Given the description of an element on the screen output the (x, y) to click on. 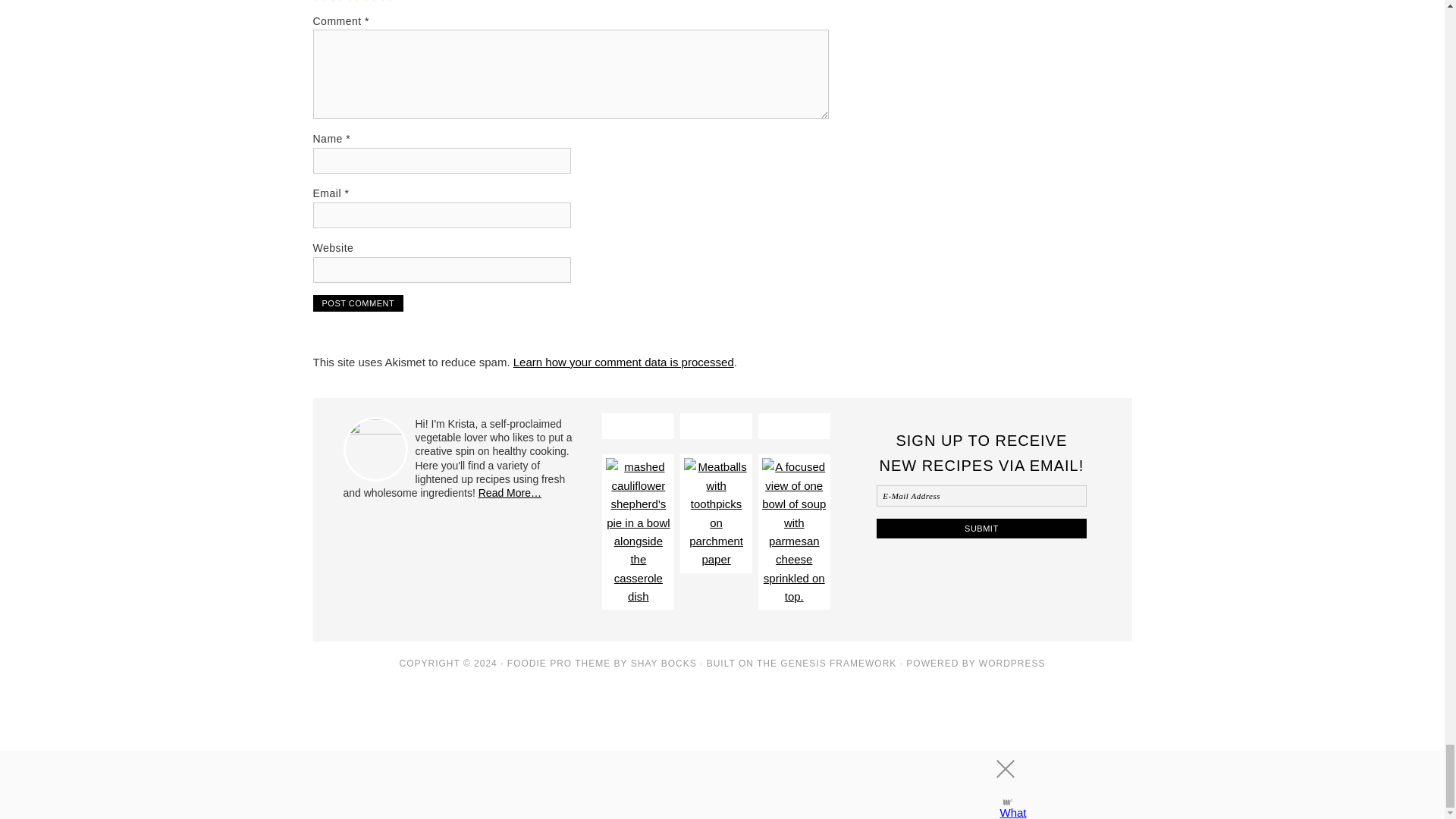
Submit (981, 528)
Post Comment (358, 303)
